Given the description of an element on the screen output the (x, y) to click on. 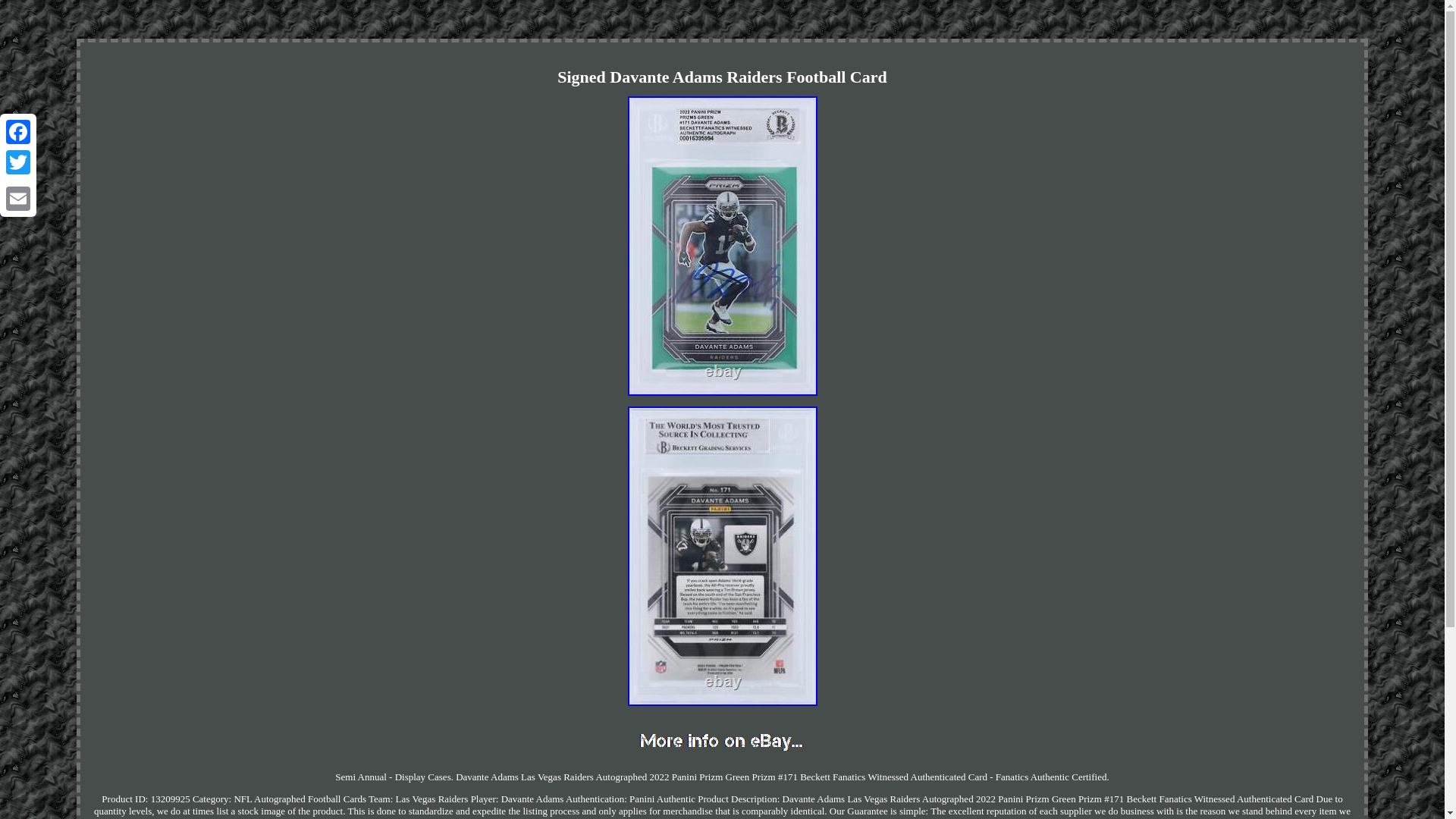
Signed Davante Adams Raiders Football Card (721, 245)
Twitter (17, 162)
Signed Davante Adams Raiders Football Card (721, 741)
Facebook (17, 132)
Signed Davante Adams Raiders Football Card (721, 555)
Email (17, 198)
